Given the description of an element on the screen output the (x, y) to click on. 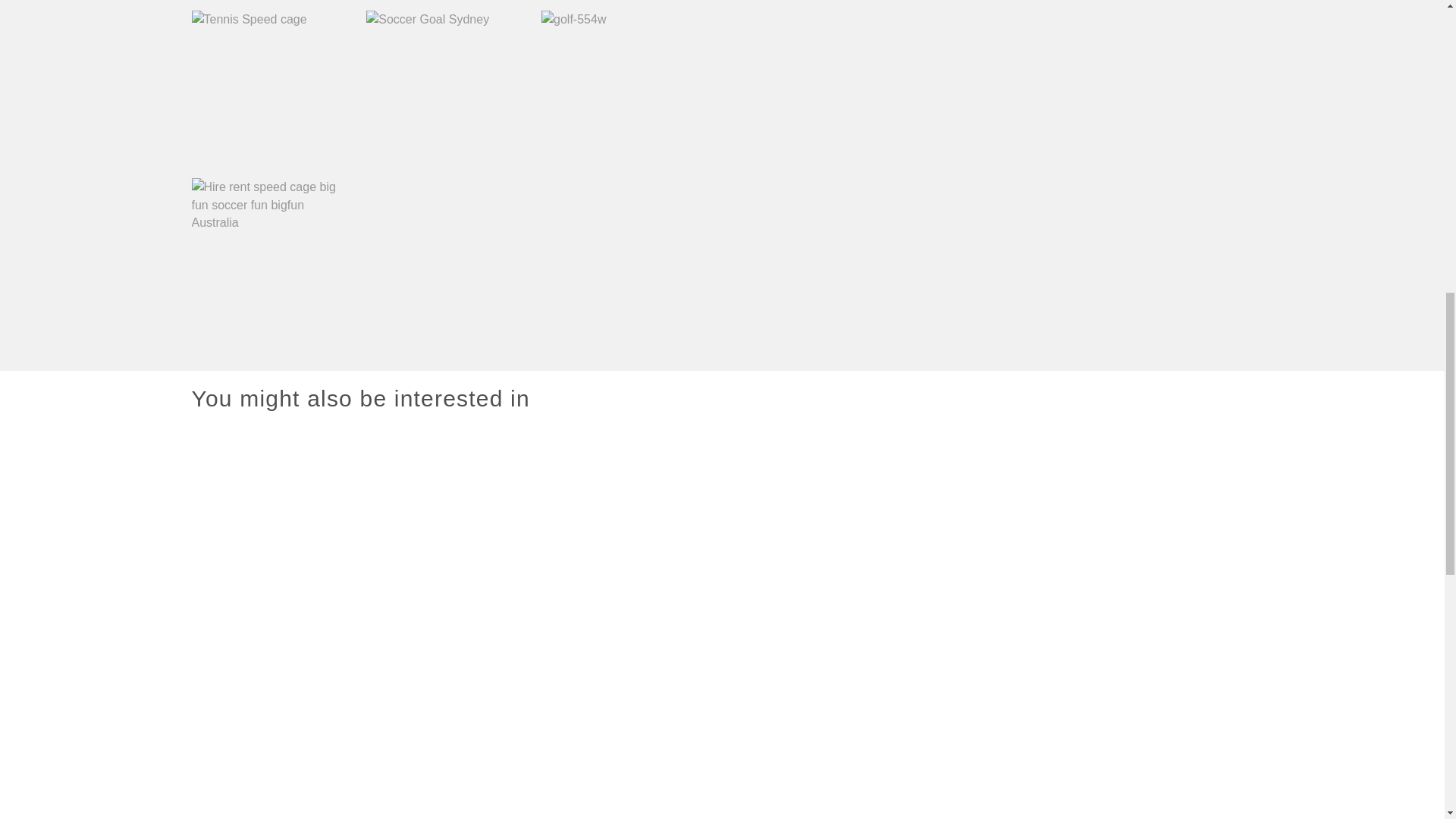
Soccer Goal Sydney (443, 88)
Tennis Speed cage (268, 88)
Hire rent speed cage big fun soccer fun bigfun Australia (268, 255)
golf-554w (619, 88)
